Given the description of an element on the screen output the (x, y) to click on. 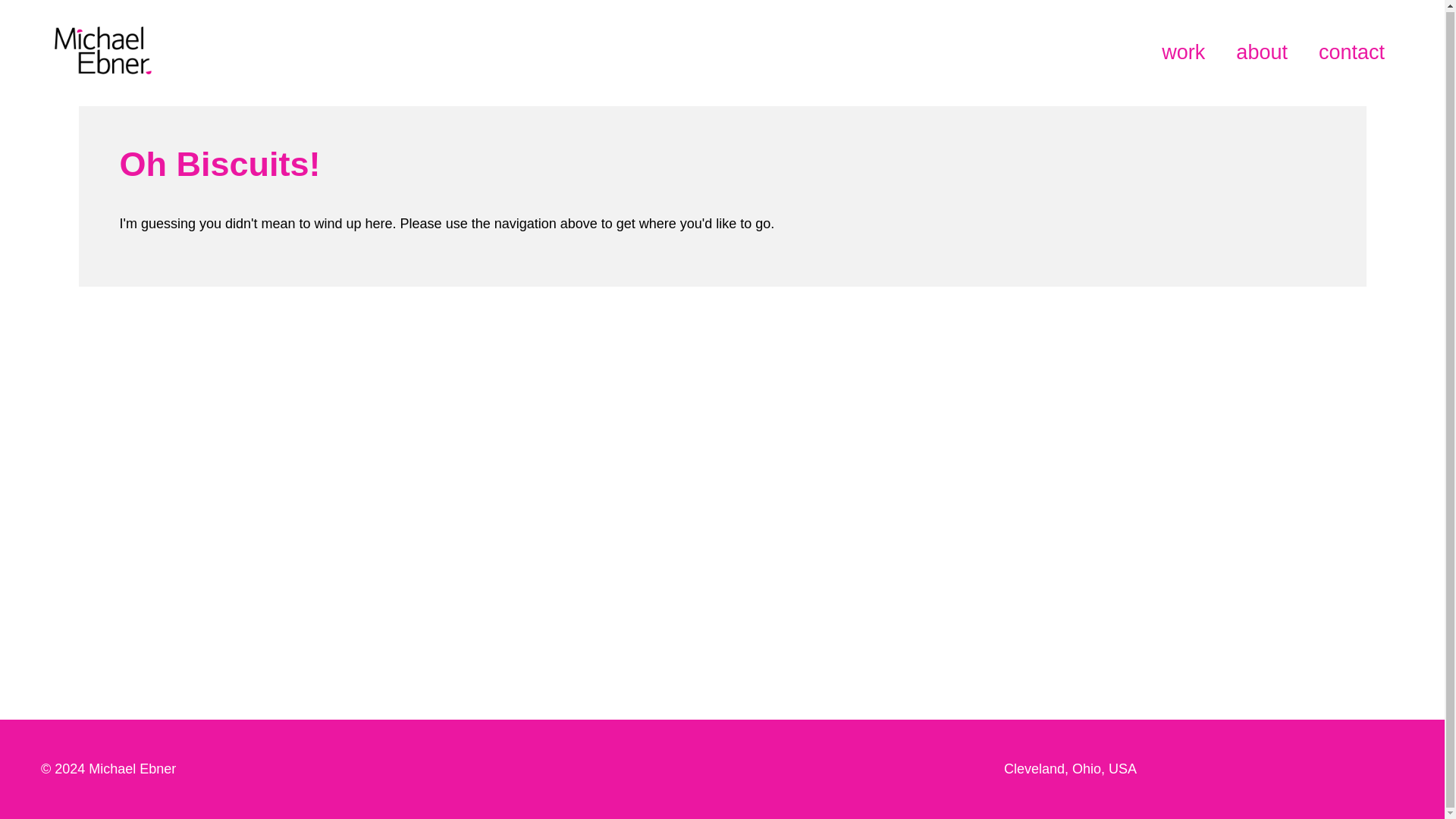
about (1261, 51)
work (1183, 51)
contact (1351, 51)
